Given the description of an element on the screen output the (x, y) to click on. 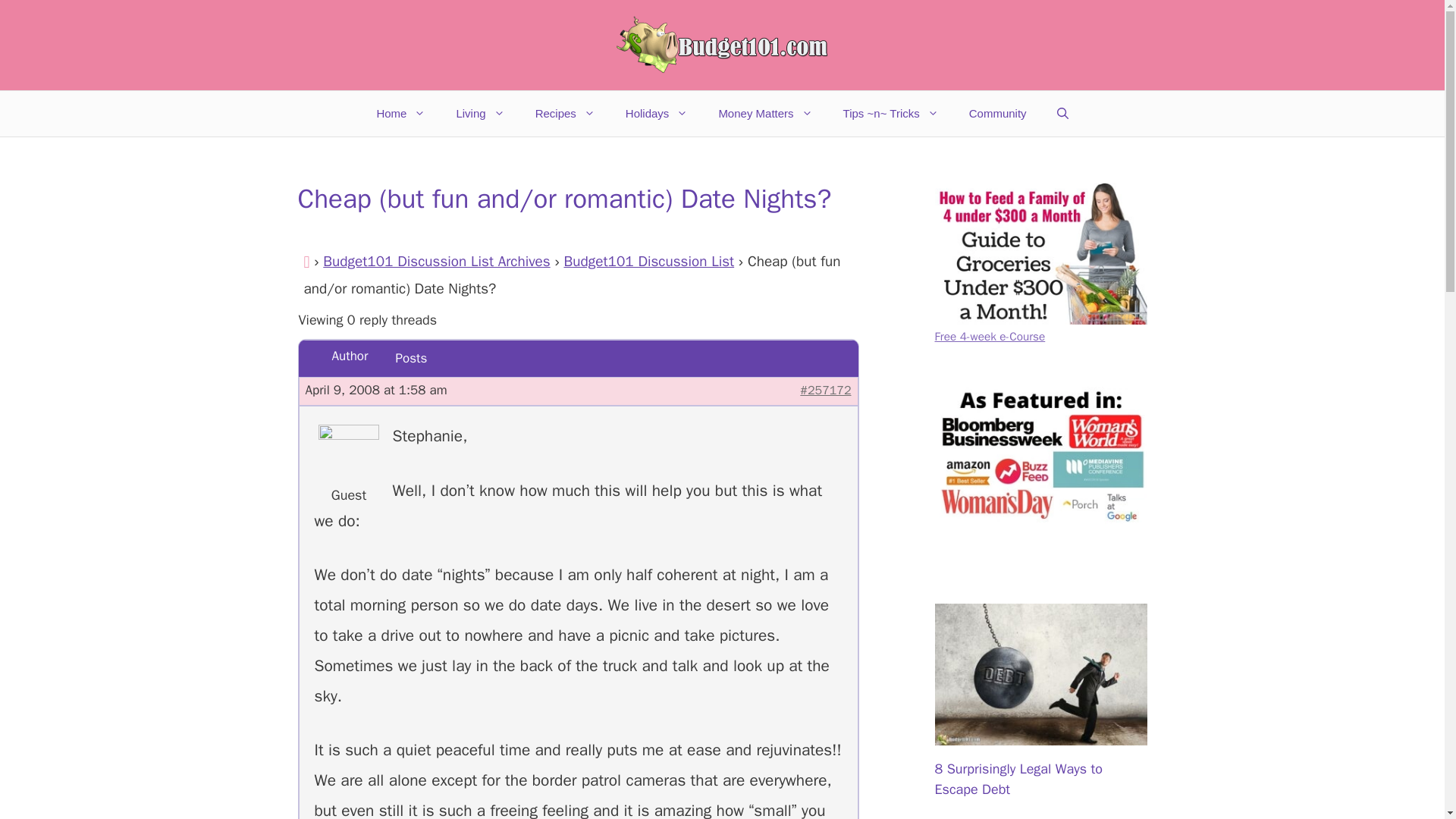
Recipes (564, 113)
Home (401, 113)
Budget101 (721, 45)
Budget101 (721, 44)
Living (480, 113)
8 Surprisingly Legal Ways to Escape Debt (1040, 734)
b101 search button (1040, 457)
Holidays (656, 113)
guide to groceries 300m sidebar (1040, 253)
